Given the description of an element on the screen output the (x, y) to click on. 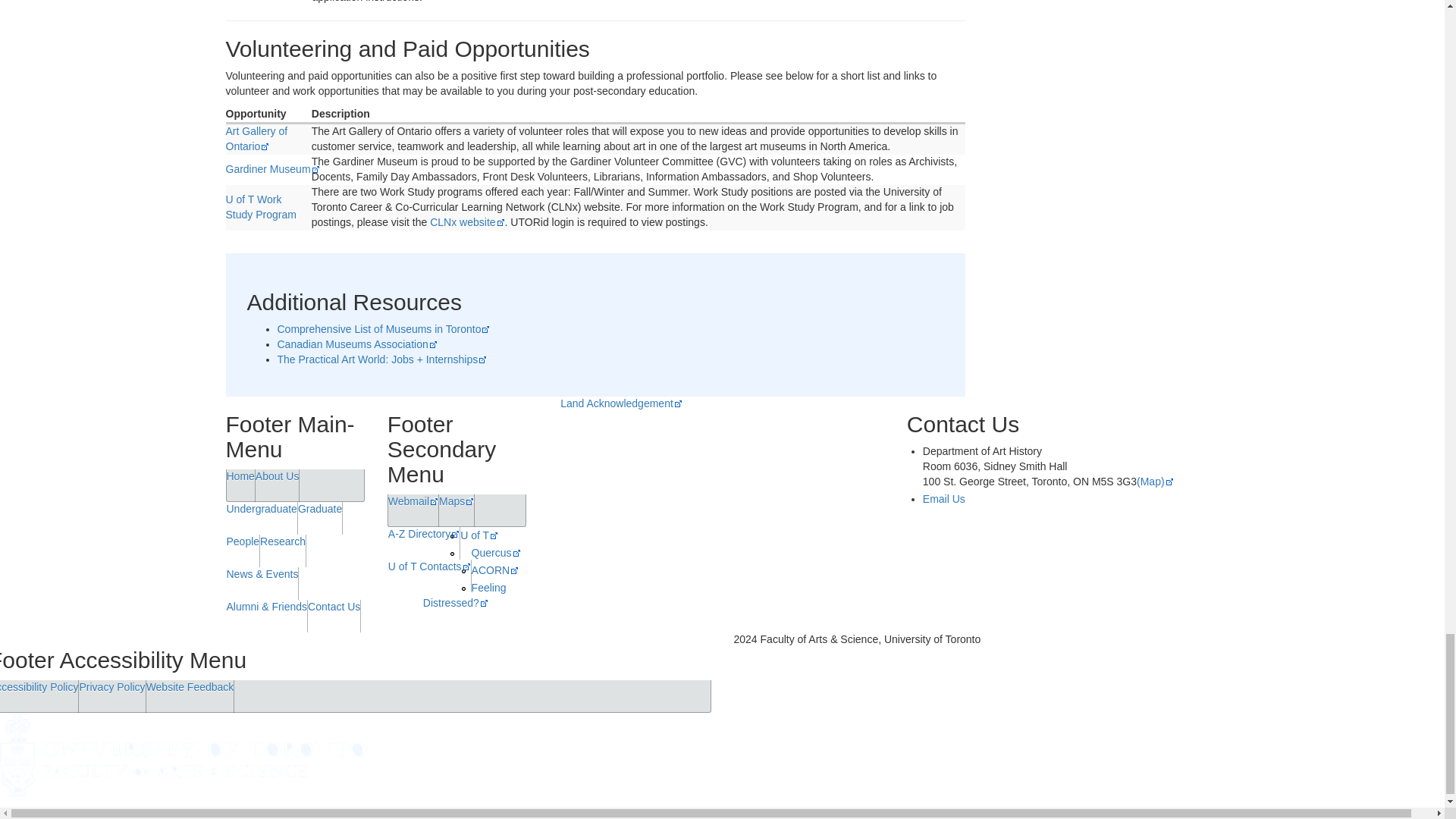
Find us on Facebook (961, 547)
Find us on Instagram (1007, 547)
Find us on YouTube (1051, 547)
Find us on Twitter (917, 561)
